Given the description of an element on the screen output the (x, y) to click on. 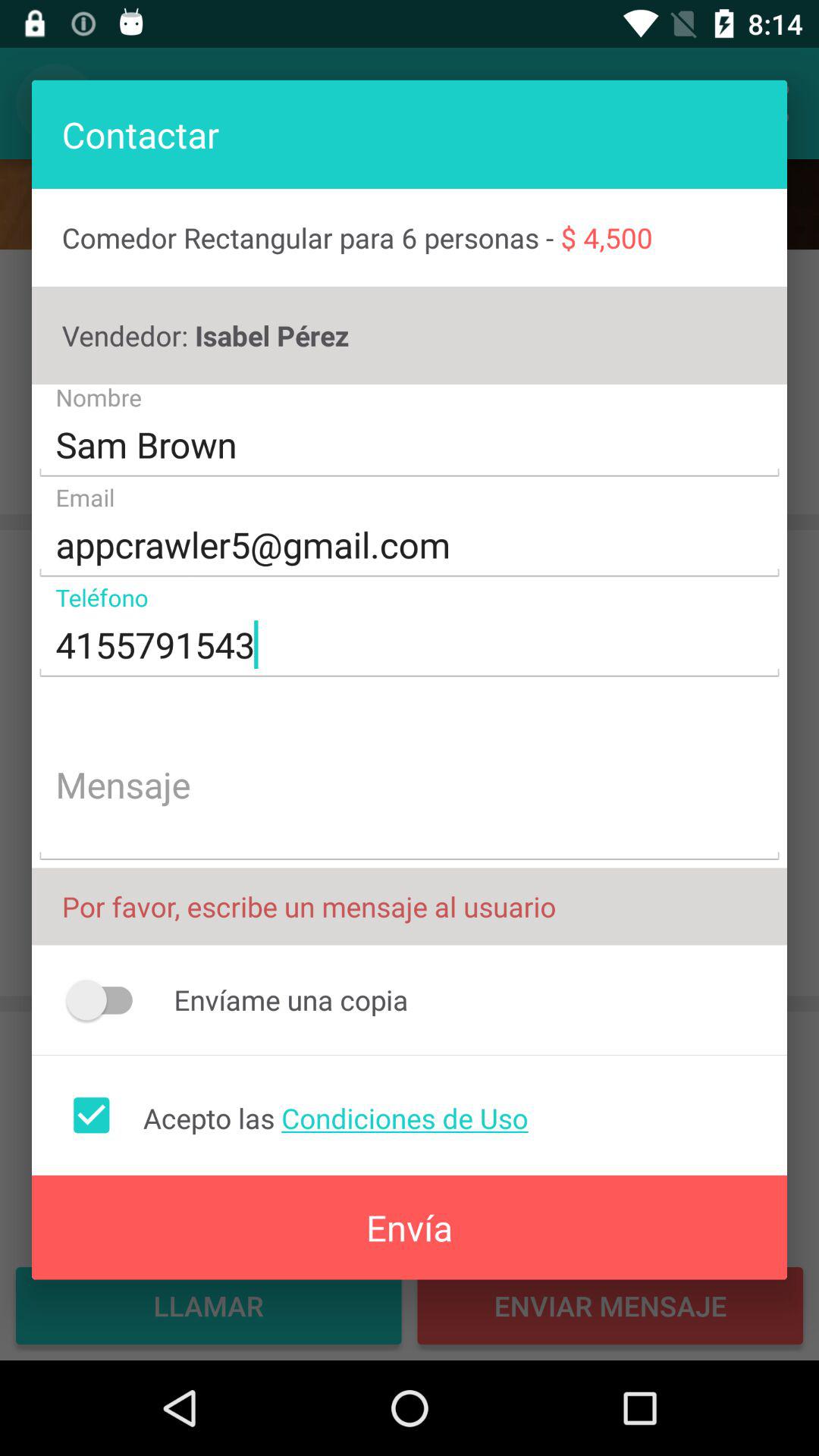
open icon next to the acepto las condiciones item (91, 1115)
